Given the description of an element on the screen output the (x, y) to click on. 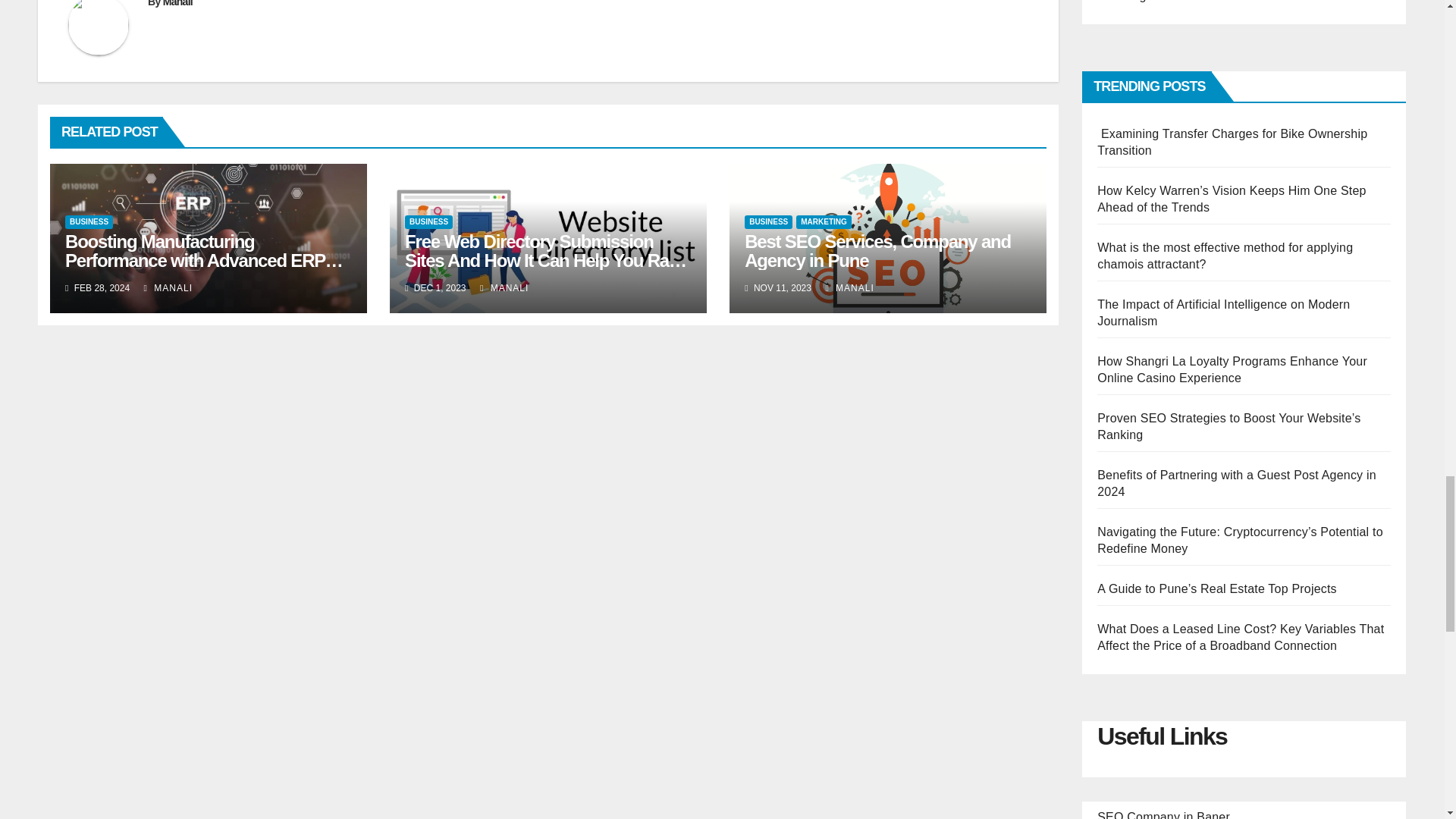
Permalink to: Best SEO Services, Company and Agency in Pune (877, 250)
